Given the description of an element on the screen output the (x, y) to click on. 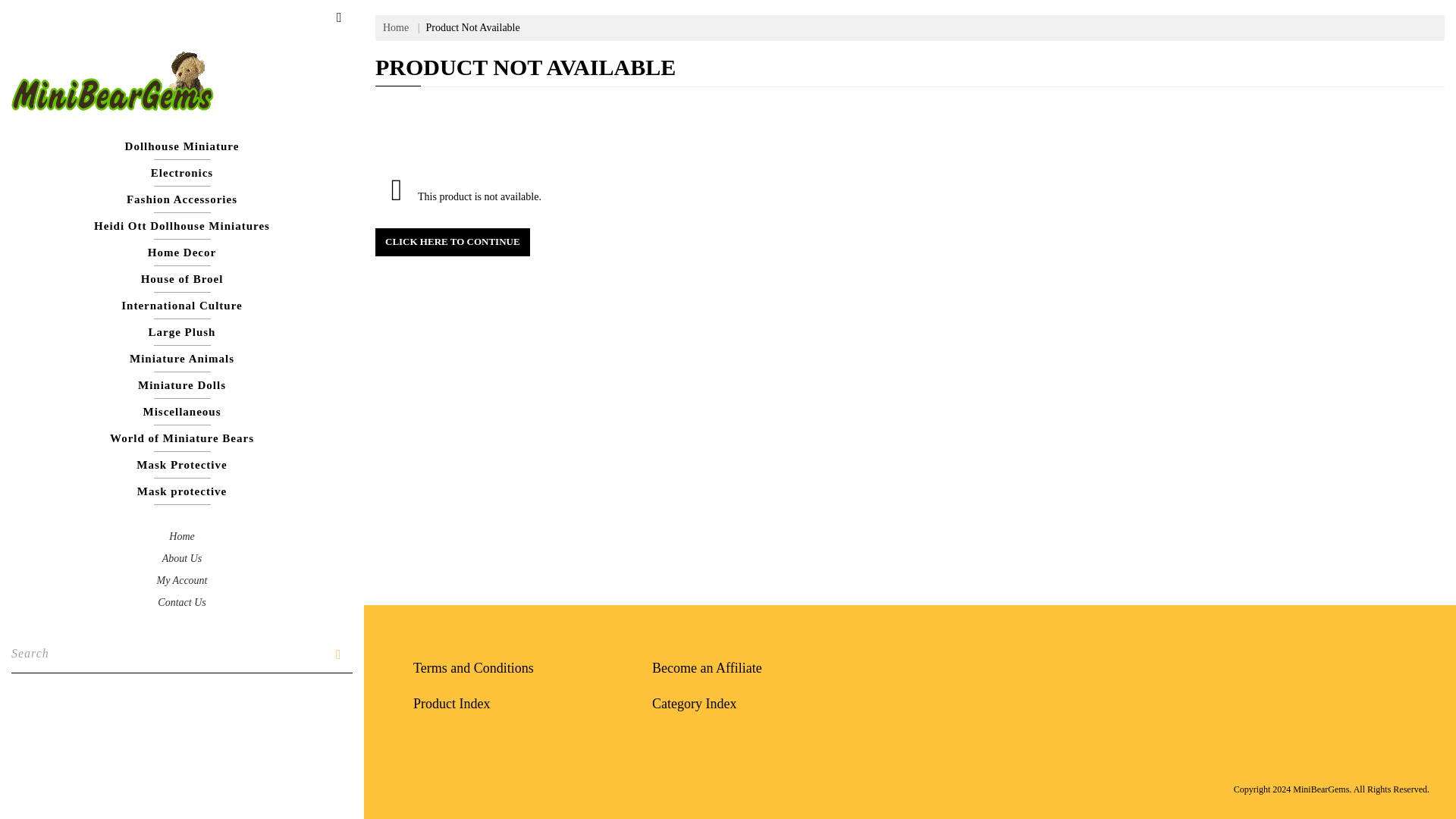
Mask Protective (181, 465)
Category Index (694, 703)
Miniature Animals (181, 358)
Miniature Dolls (181, 385)
International Culture (181, 305)
My Account (180, 580)
Heidi Ott Dollhouse Miniatures (181, 225)
Miscellaneous (181, 411)
Become an Affiliate (706, 667)
About Us (181, 558)
